Given the description of an element on the screen output the (x, y) to click on. 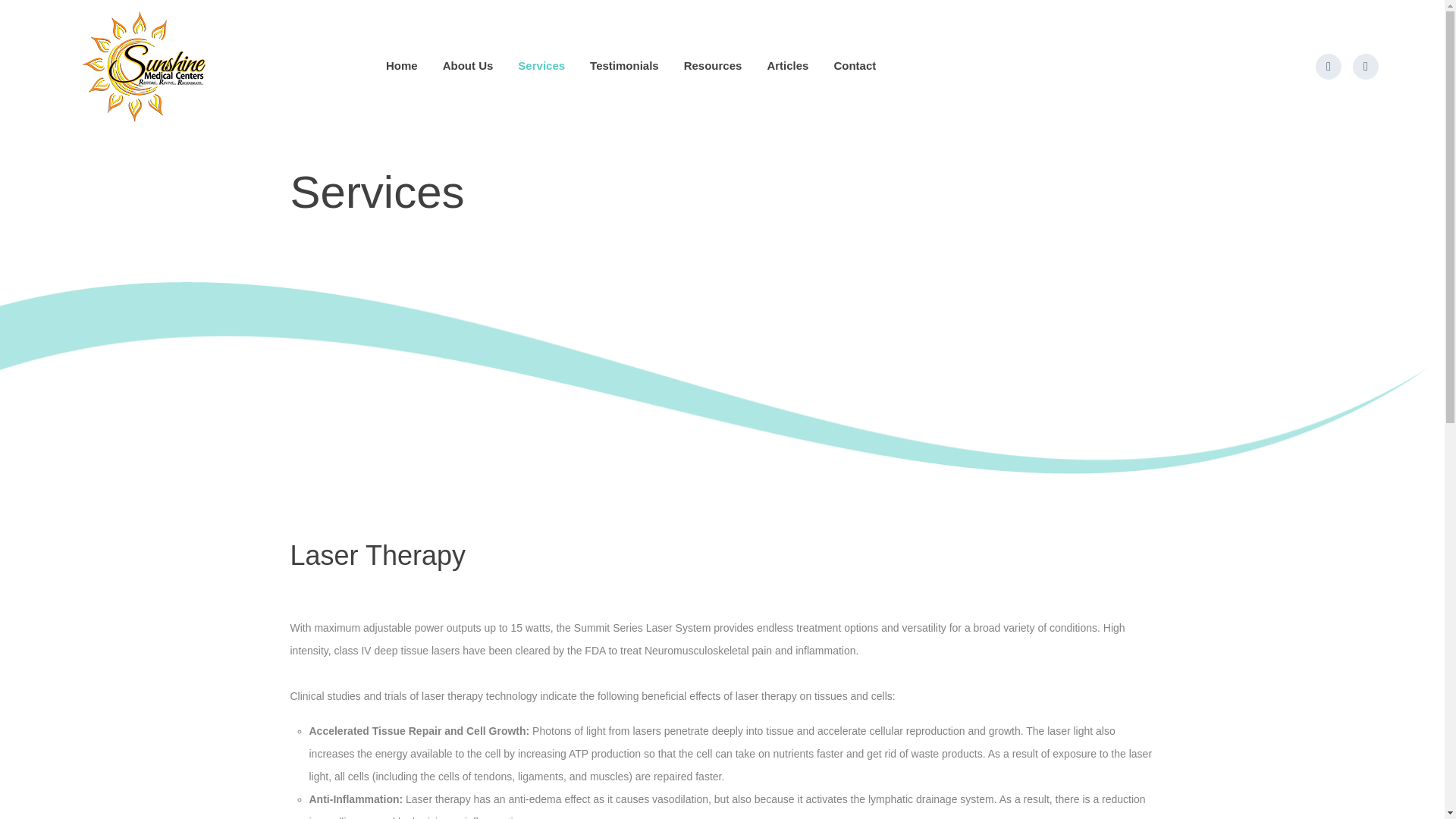
Contact (854, 65)
Articles (787, 65)
About Us (467, 65)
Services (541, 65)
Resources (713, 65)
Home (401, 65)
Testimonials (624, 65)
